Given the description of an element on the screen output the (x, y) to click on. 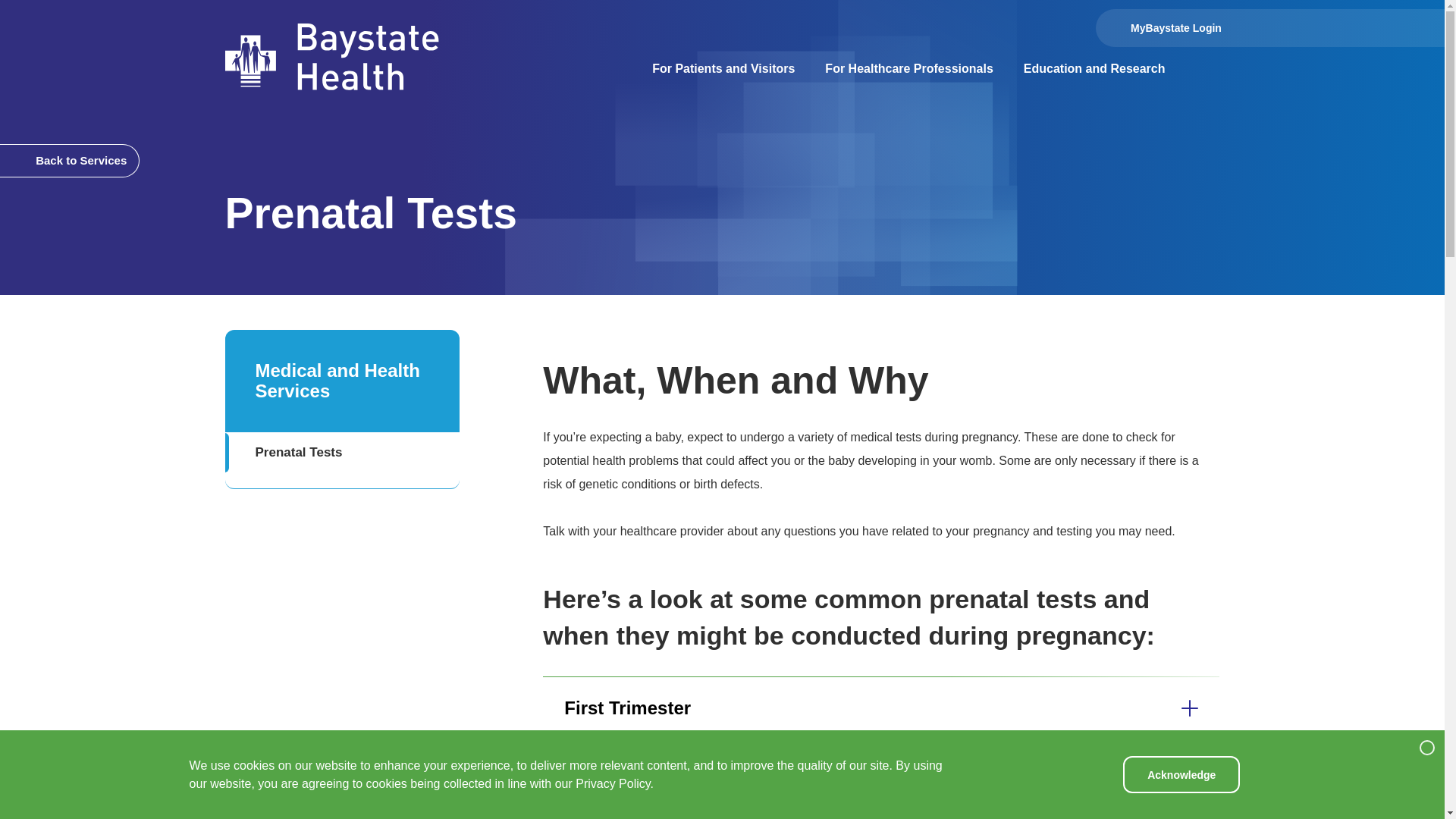
For Healthcare Professionals (908, 68)
Education and Research (1094, 68)
MyBaystate Login (1157, 27)
Acknowledge (1181, 774)
For Patients and Visitors (723, 68)
